Given the description of an element on the screen output the (x, y) to click on. 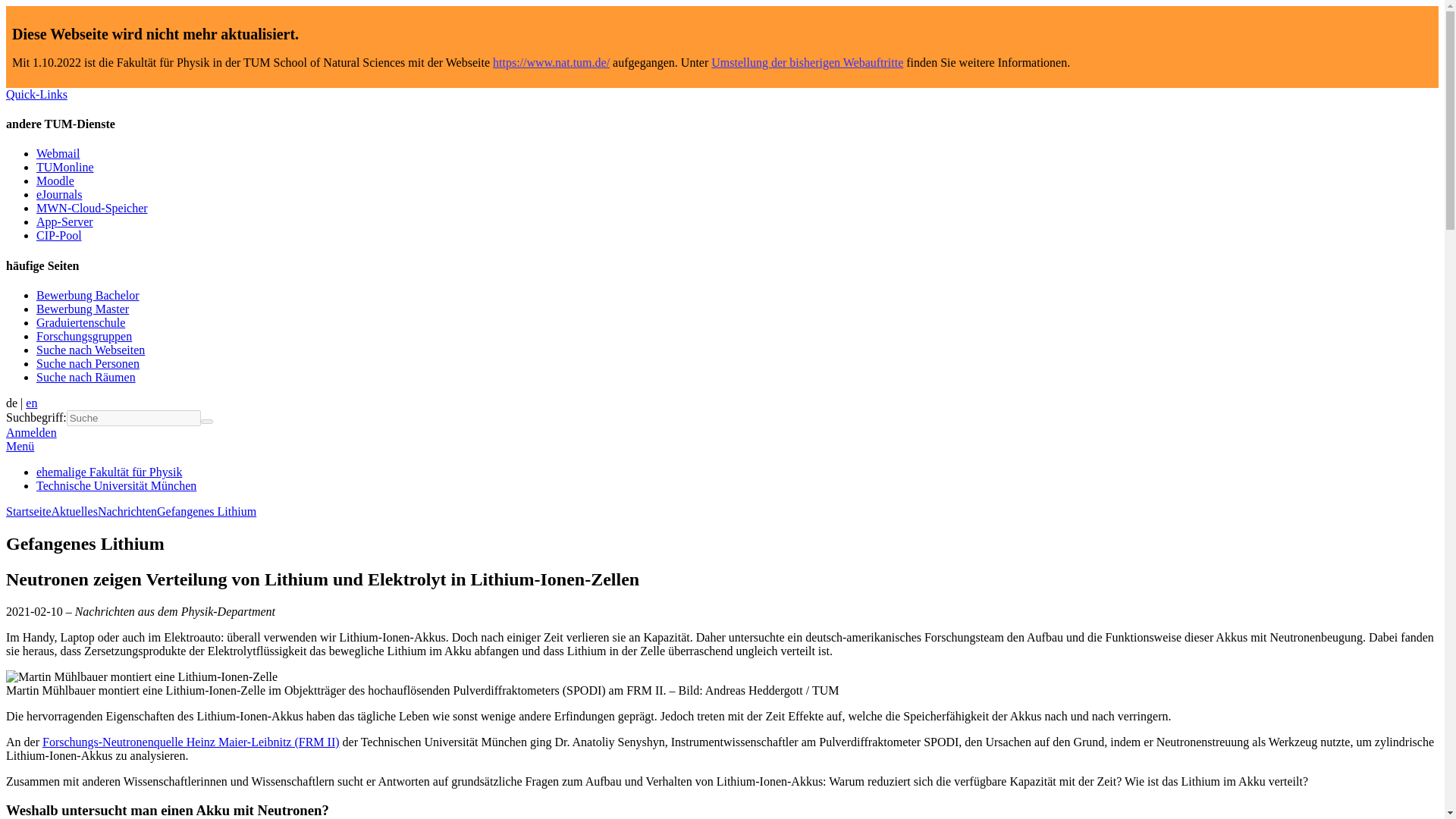
Moodle (55, 180)
en (31, 402)
CIP-Pool (58, 235)
Anmelden (30, 431)
Nachrichten aus dem Physik-Department (127, 511)
Quick-Links (35, 93)
es wird die deutsche Sprachversion der Seite angezeigt (11, 402)
TUMonline (65, 166)
Umstellung der bisherigen Webauftritte (806, 62)
Suche nach Personen (87, 363)
eJournals (58, 194)
Forschungsgruppen (84, 336)
App-Server (64, 221)
Gefangenes Lithium (206, 511)
Startseite (27, 511)
